Given the description of an element on the screen output the (x, y) to click on. 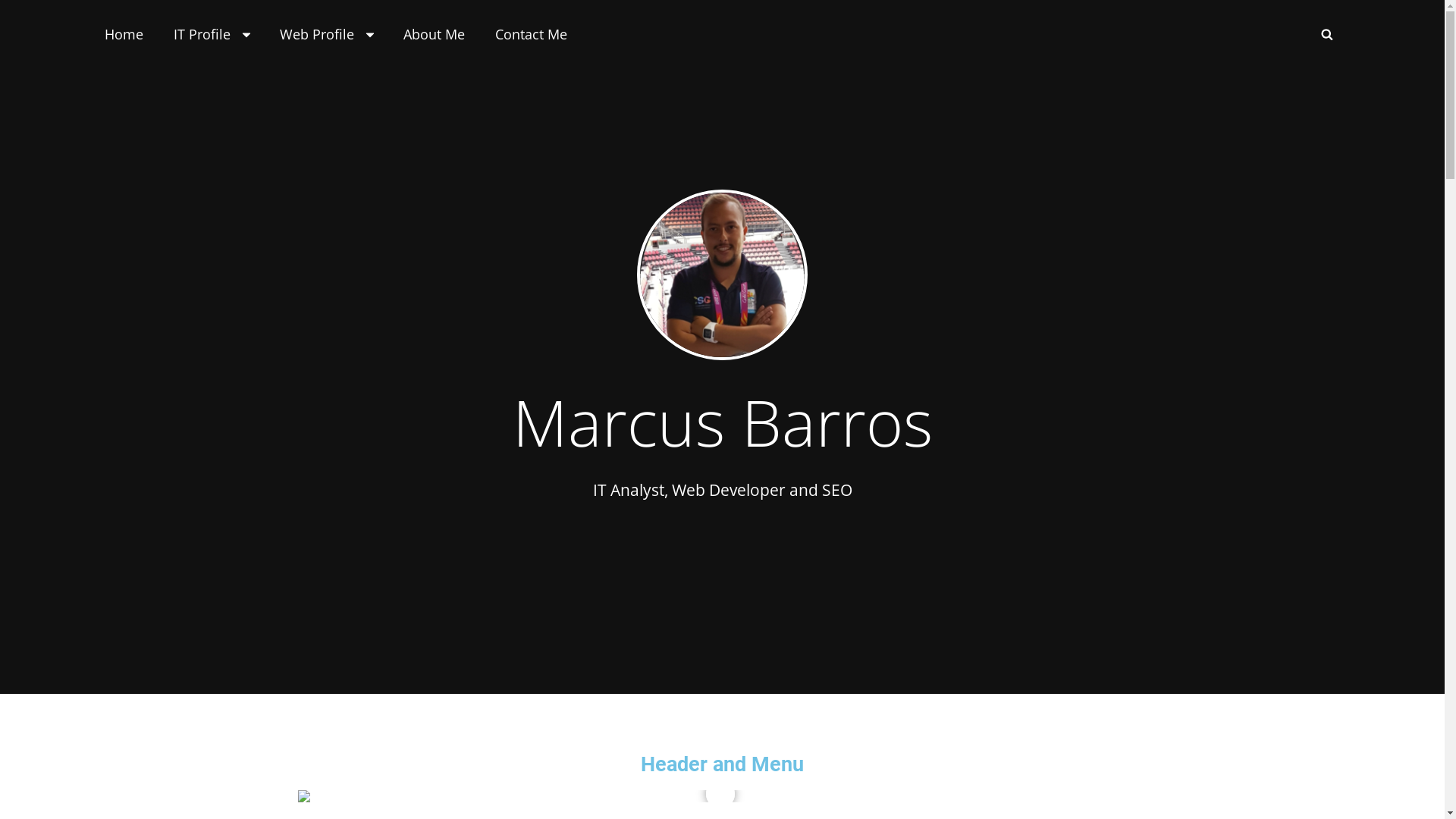
Web Profile Element type: text (325, 34)
IT Profile Element type: text (210, 34)
Contact Me Element type: text (530, 34)
Home Element type: text (123, 34)
About Me Element type: text (434, 34)
Marcus Barros Element type: text (722, 420)
